Given the description of an element on the screen output the (x, y) to click on. 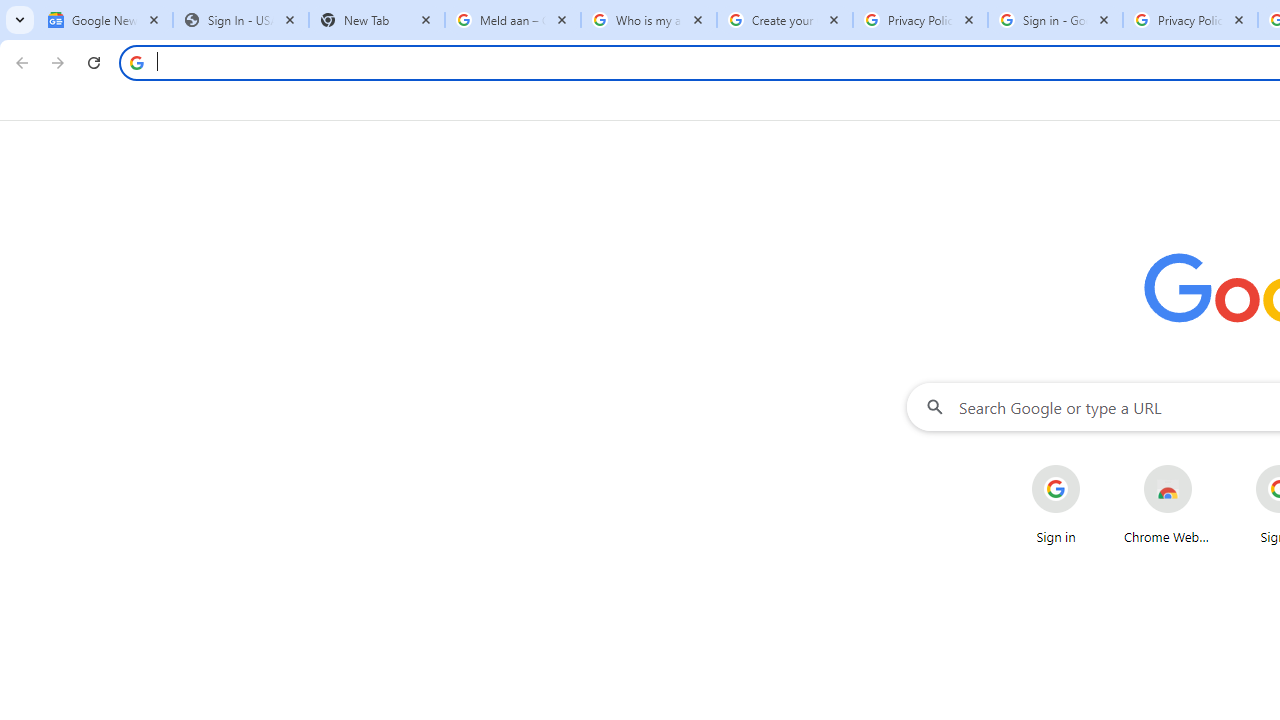
Sign In - USA TODAY (240, 20)
Create your Google Account (784, 20)
More actions for Chrome Web Store shortcut (1208, 466)
New Tab (376, 20)
Google News (104, 20)
Chrome Web Store (1167, 504)
